Given the description of an element on the screen output the (x, y) to click on. 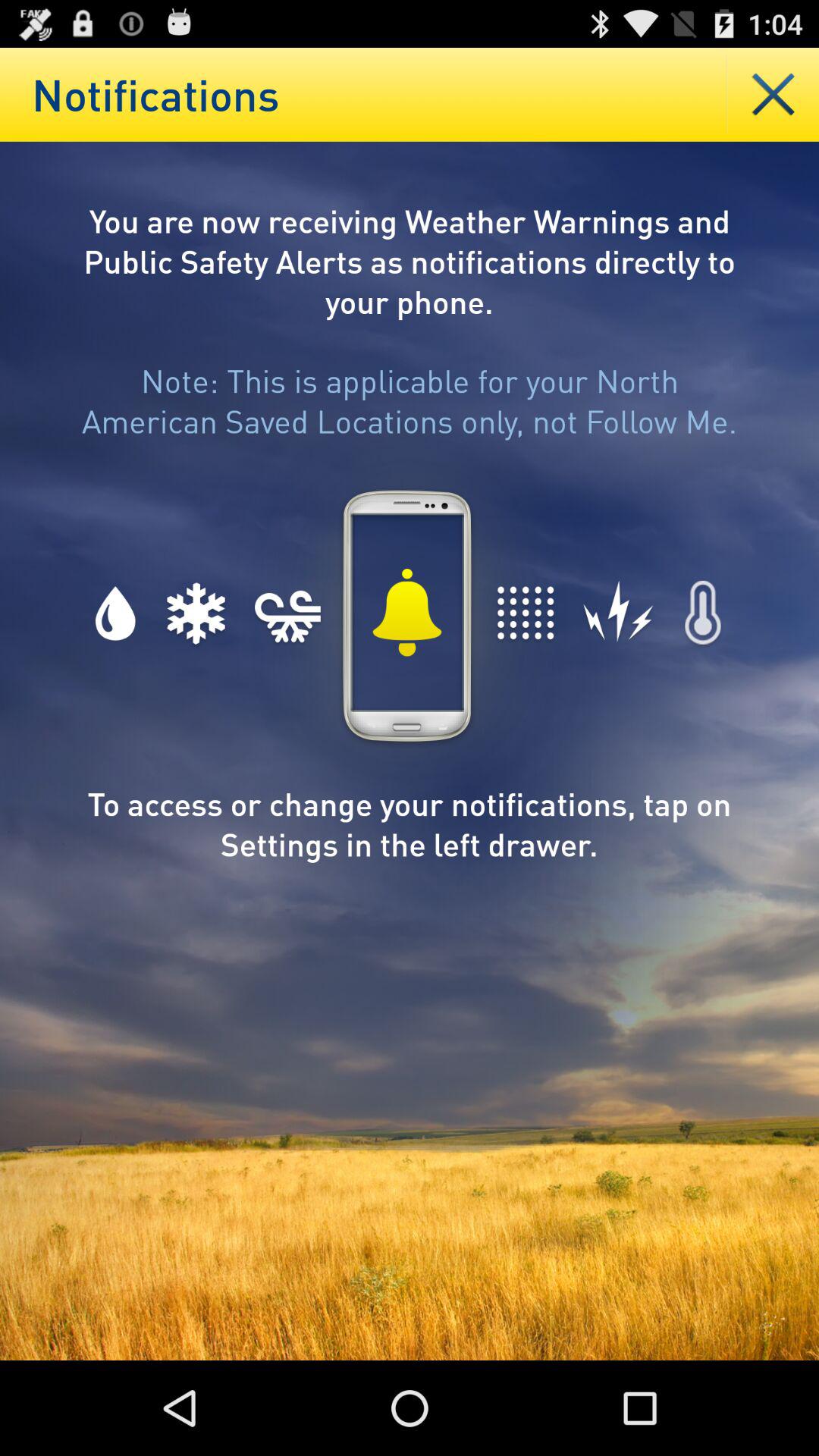
delate (773, 94)
